Given the description of an element on the screen output the (x, y) to click on. 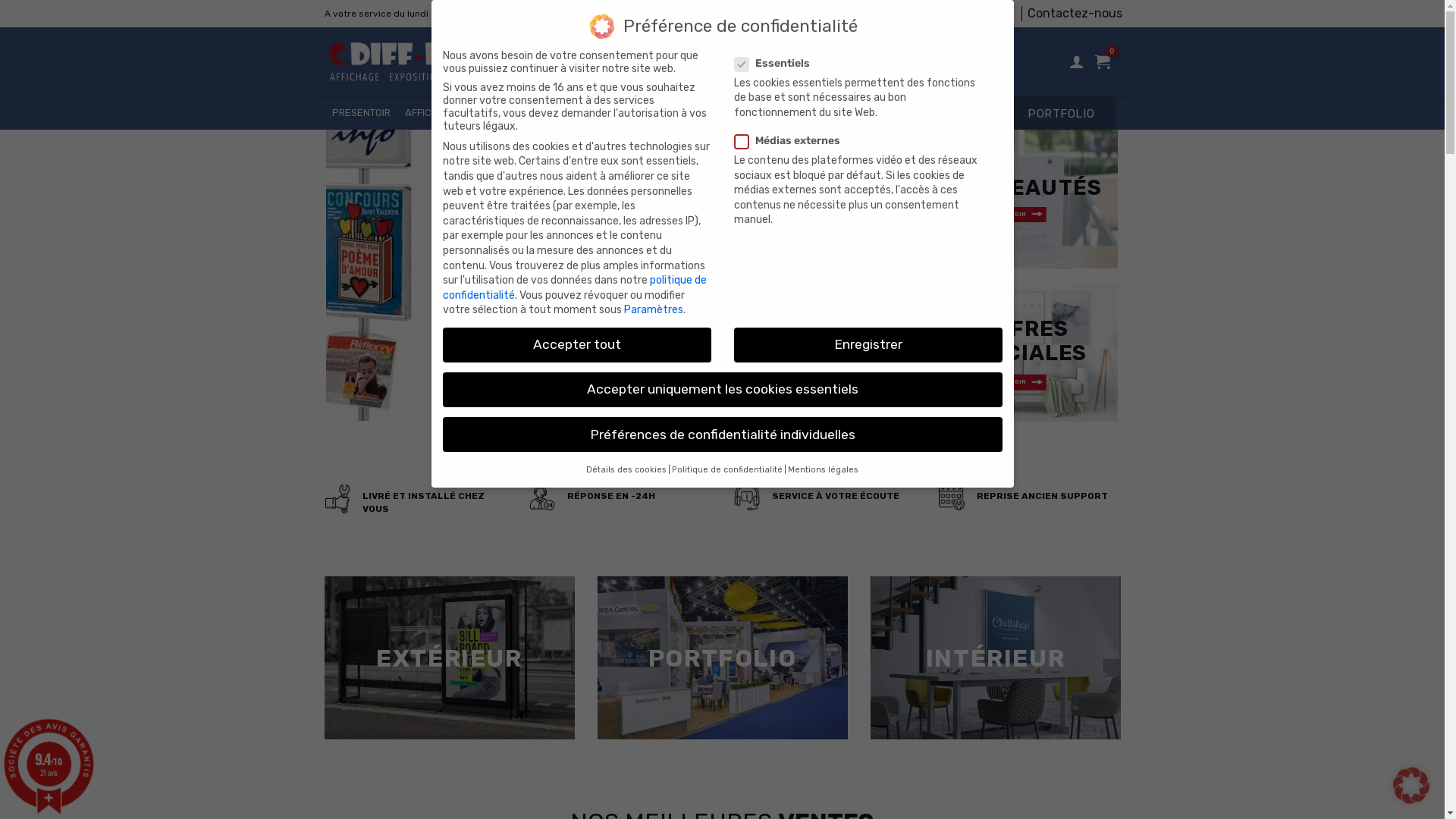
079 446 24 00 Element type: text (656, 13)
Qui sommes-nous Element type: text (958, 13)
Contactez-nous Element type: text (1074, 13)
Accepter uniquement les cookies essentiels Element type: text (722, 389)
Panier Element type: hover (1102, 61)
Accepter tout Element type: text (576, 344)
VOIR Element type: text (1024, 382)
PRESENTOIR Element type: text (360, 112)
EXPOSITION Element type: text (498, 112)
AFFICHAGE Element type: text (430, 112)
PORTFOLIO Element type: text (722, 657)
Aller au contenu Element type: text (0, 0)
PROTECTION Element type: text (838, 112)
VOIR Element type: text (1024, 214)
PRESENTOIR PRESSE Element type: text (668, 112)
BLOG Element type: text (894, 112)
CONFERENCE Element type: text (572, 112)
CLASSEMENT Element type: text (762, 112)
Enregistrer Element type: text (868, 344)
PORTFOLIO Element type: text (1061, 113)
